Given the description of an element on the screen output the (x, y) to click on. 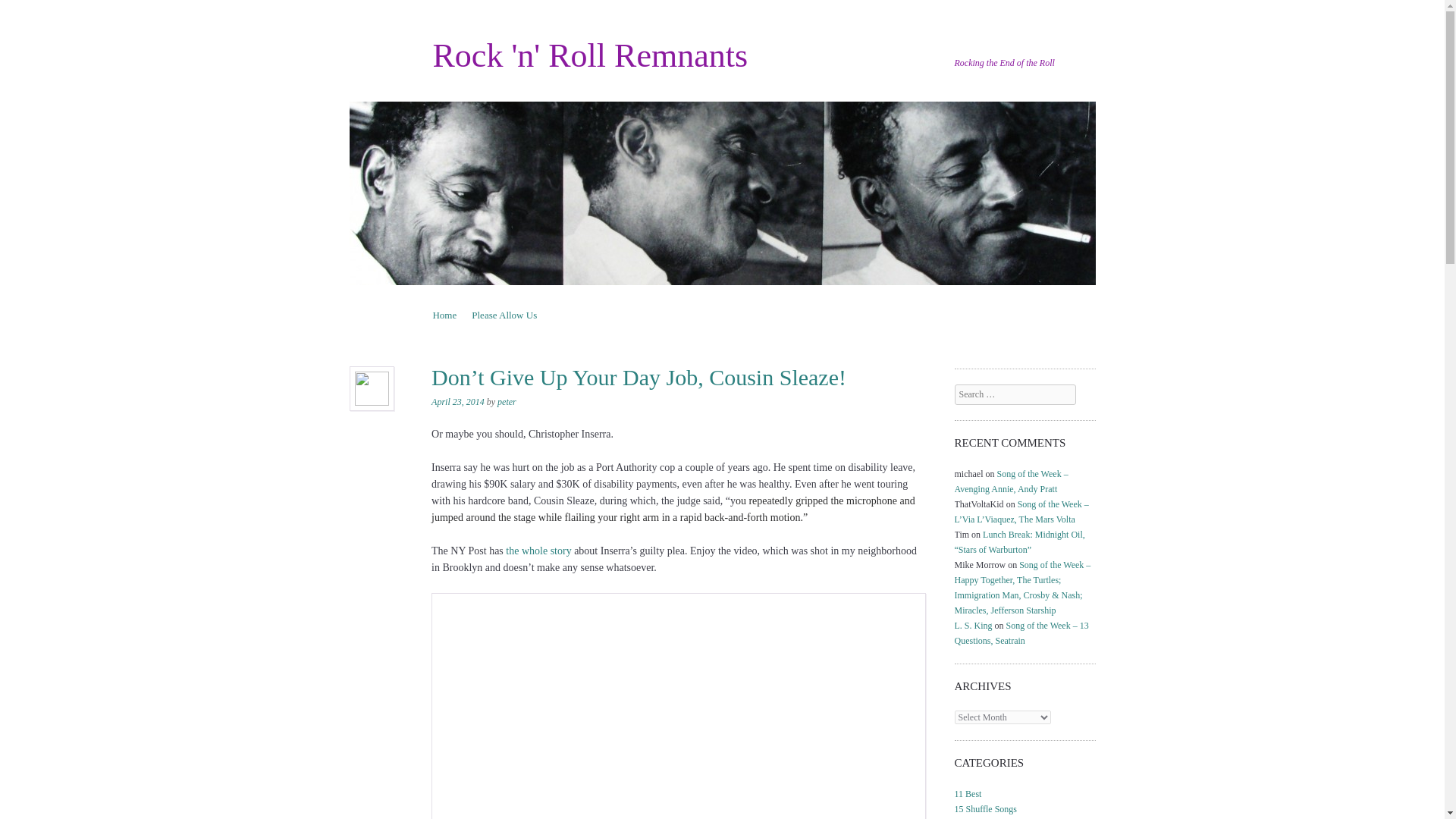
Home (444, 314)
Skip to content (462, 314)
peter (506, 401)
Rock 'n' Roll Remnants (590, 55)
11 Best (968, 793)
L. S. King (973, 624)
Skip to content (462, 314)
Search (32, 11)
Please Allow Us (504, 314)
